Given the description of an element on the screen output the (x, y) to click on. 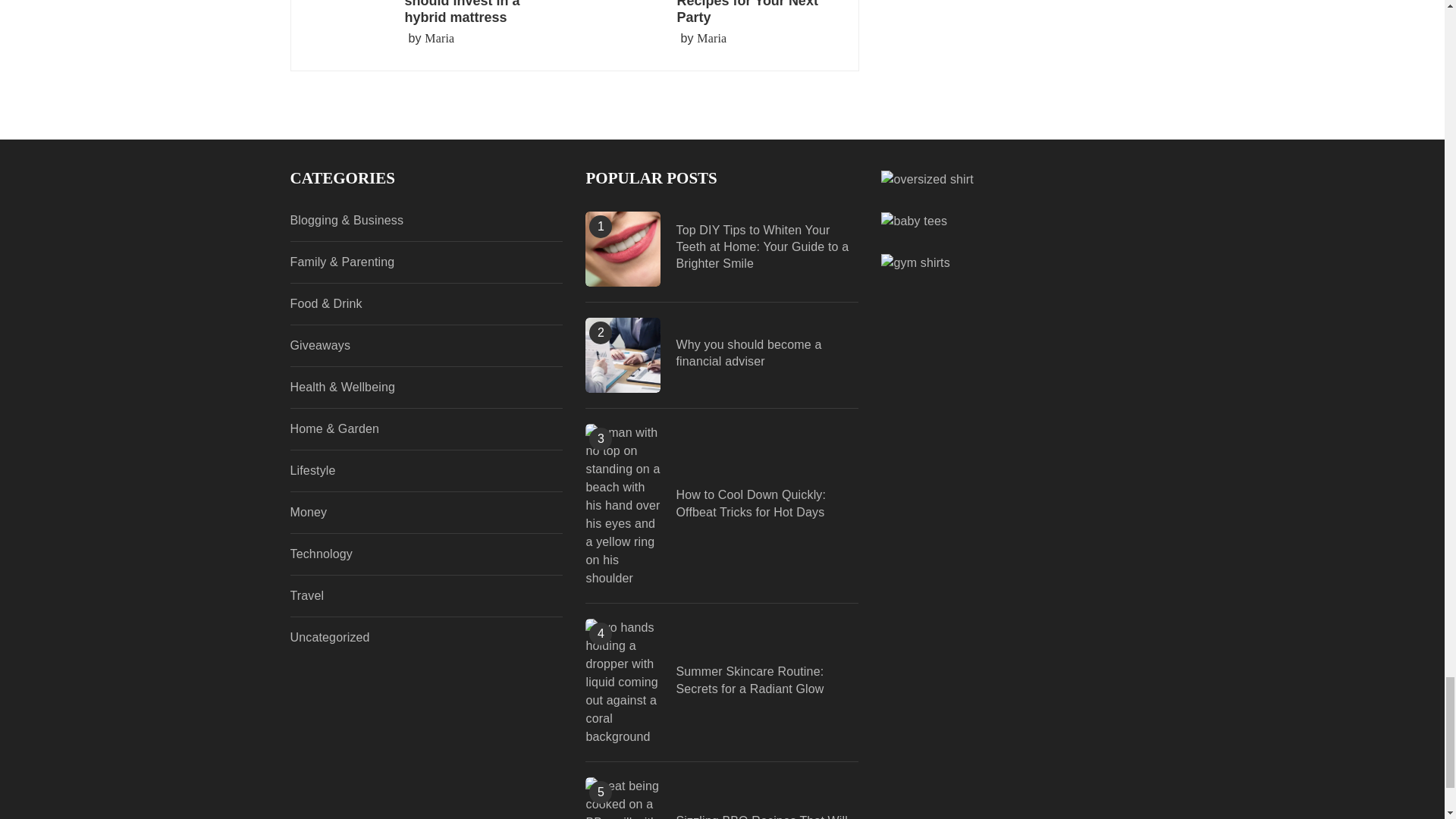
oversized shirt (926, 178)
gym shirts (914, 261)
baby tees (913, 219)
